Given the description of an element on the screen output the (x, y) to click on. 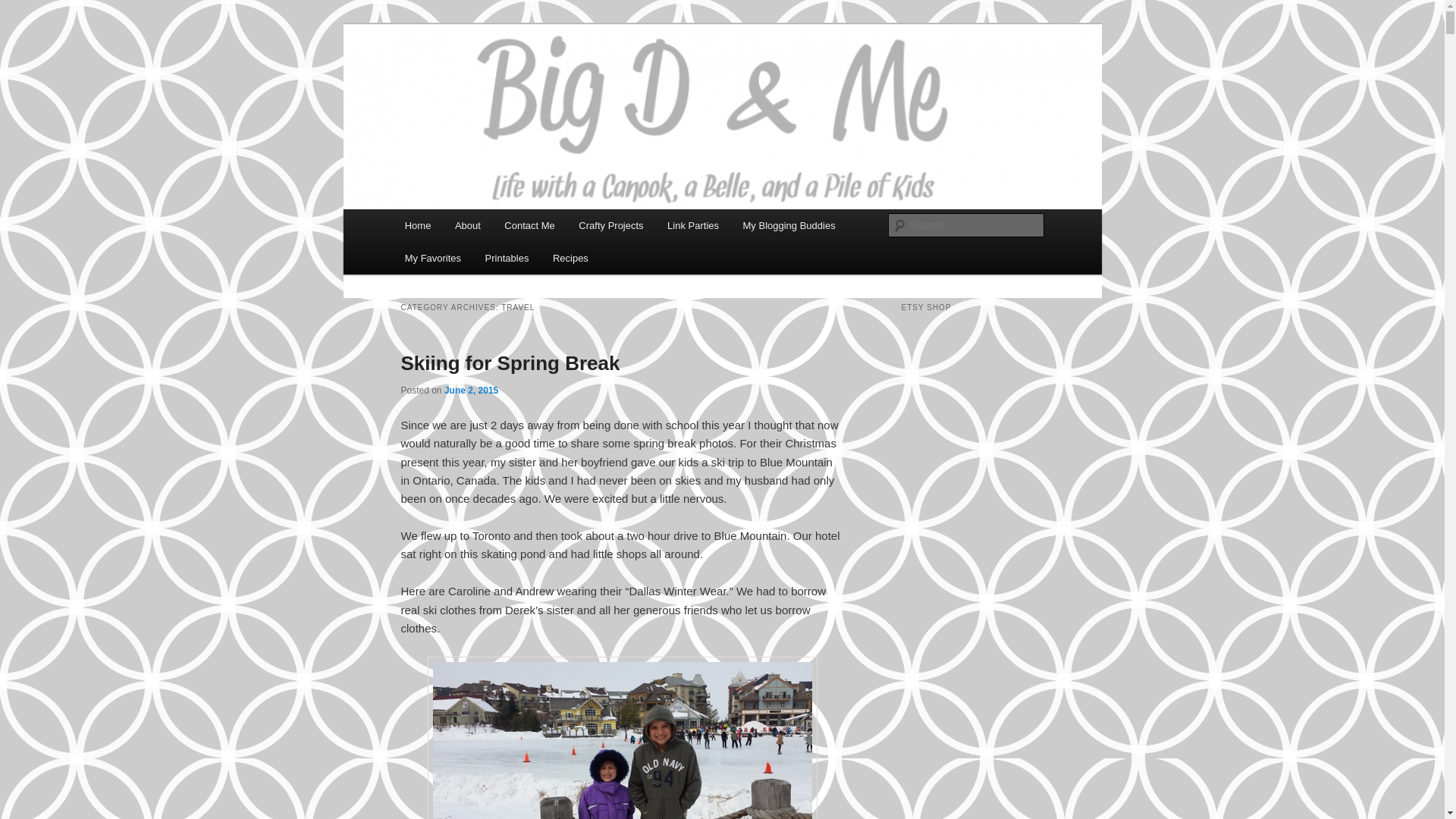
1:36 pm (470, 389)
Recipes (569, 257)
My Blogging Buddies (788, 225)
Link Parties (692, 225)
Printables (506, 257)
Home (417, 225)
June 2, 2015 (470, 389)
Search (24, 8)
About (467, 225)
